Given the description of an element on the screen output the (x, y) to click on. 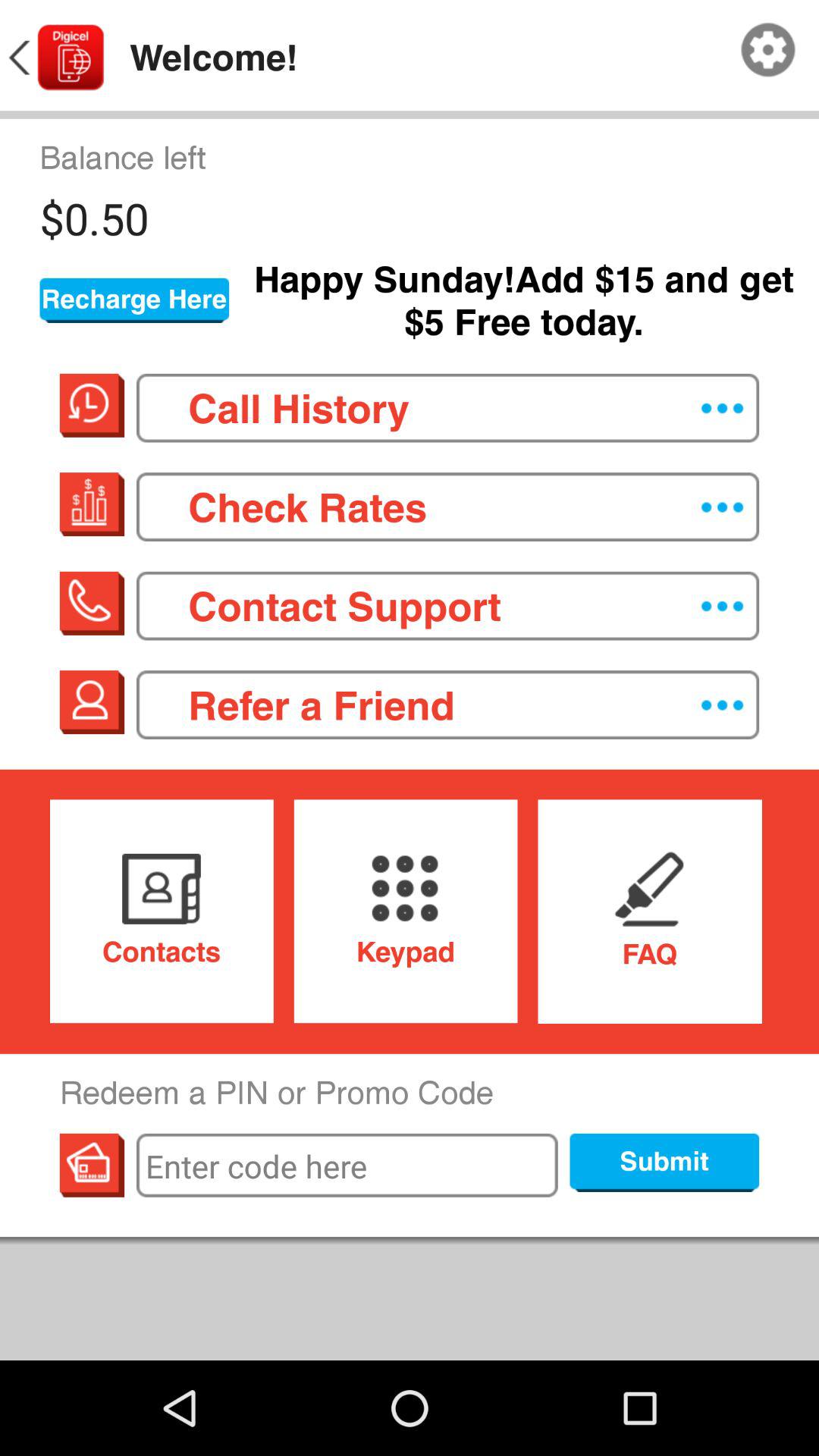
launch submit button (664, 1162)
